Given the description of an element on the screen output the (x, y) to click on. 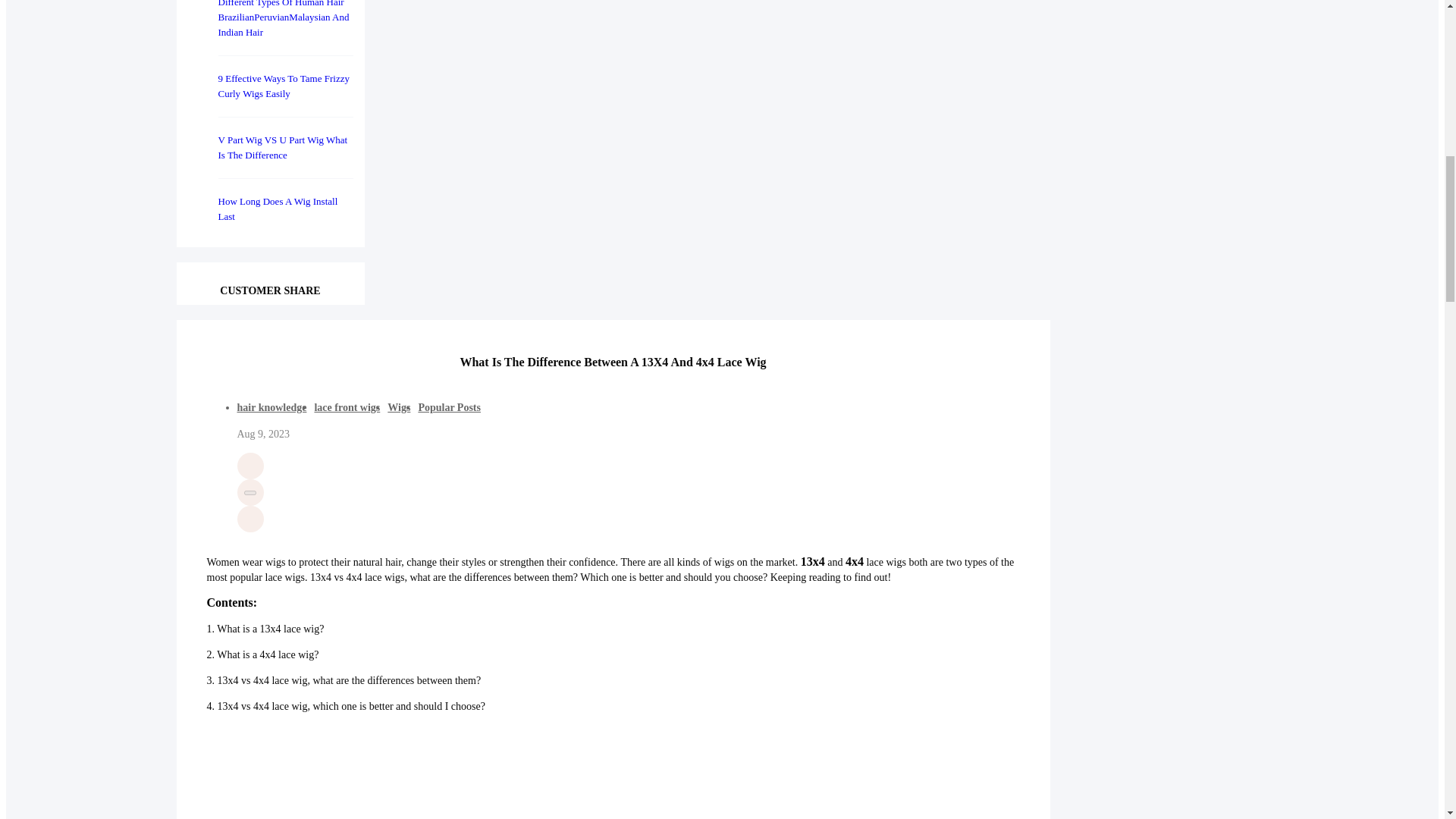
13x4 (812, 562)
V Part Wig VS U Part Wig What Is The Difference (282, 147)
9 Effective Ways To Tame Frizzy Curly Wigs Easily (283, 85)
4x4 (854, 562)
How Long Does A Wig Install Last (277, 208)
